Given the description of an element on the screen output the (x, y) to click on. 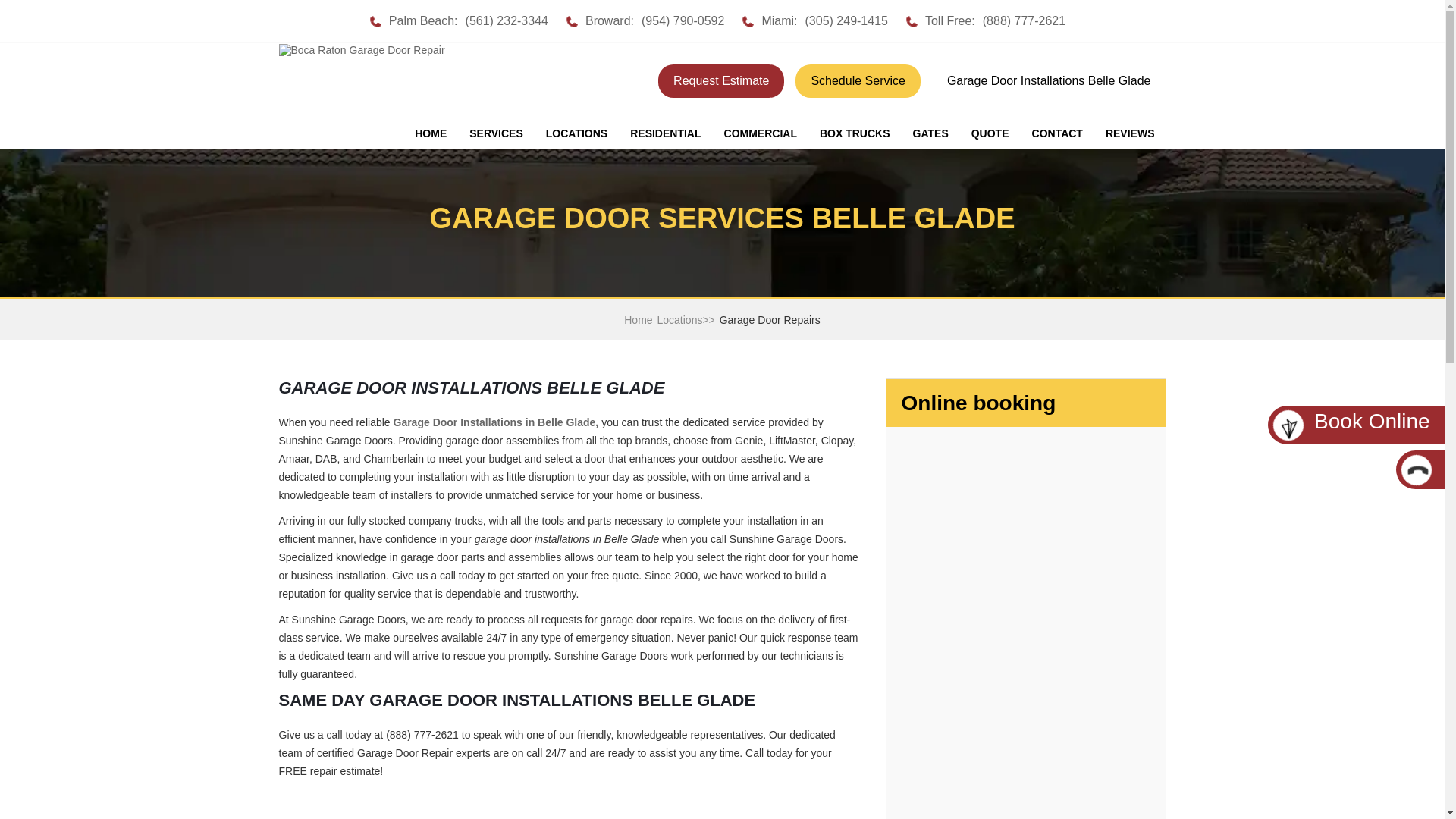
COMMERCIAL (759, 133)
RESIDENTIAL (665, 133)
BOX TRUCKS (854, 133)
GATES (930, 133)
QUOTE (990, 133)
REVIEWS (1129, 133)
LOCATIONS (576, 133)
HOME (430, 133)
CONTACT (1057, 133)
Request Estimate (721, 80)
